Given the description of an element on the screen output the (x, y) to click on. 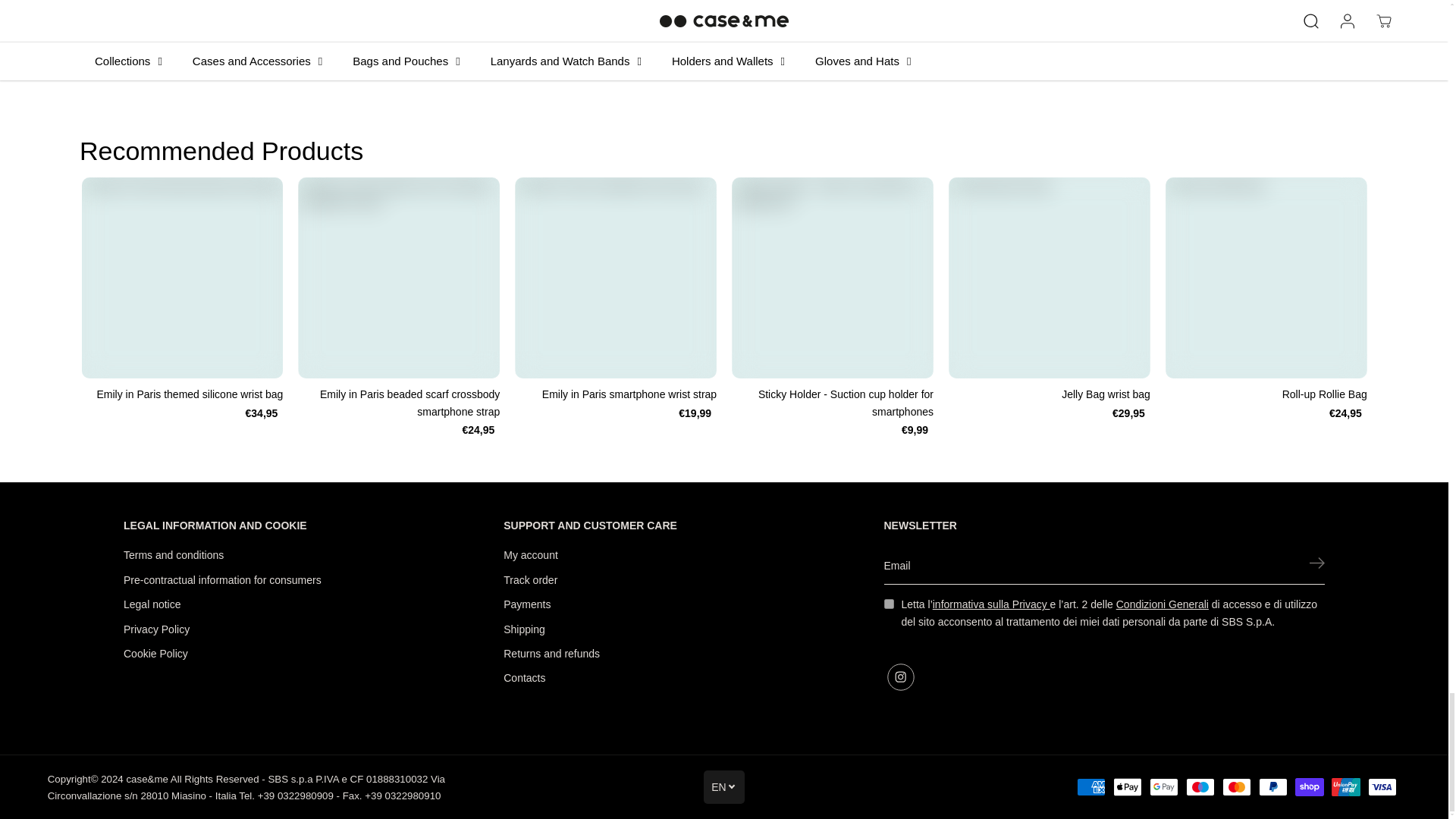
on (888, 603)
Google Pay (1163, 787)
Maestro (1200, 787)
PayPal (1273, 787)
Apple Pay (1127, 787)
American Express (1091, 787)
Mastercard (1236, 787)
